Given the description of an element on the screen output the (x, y) to click on. 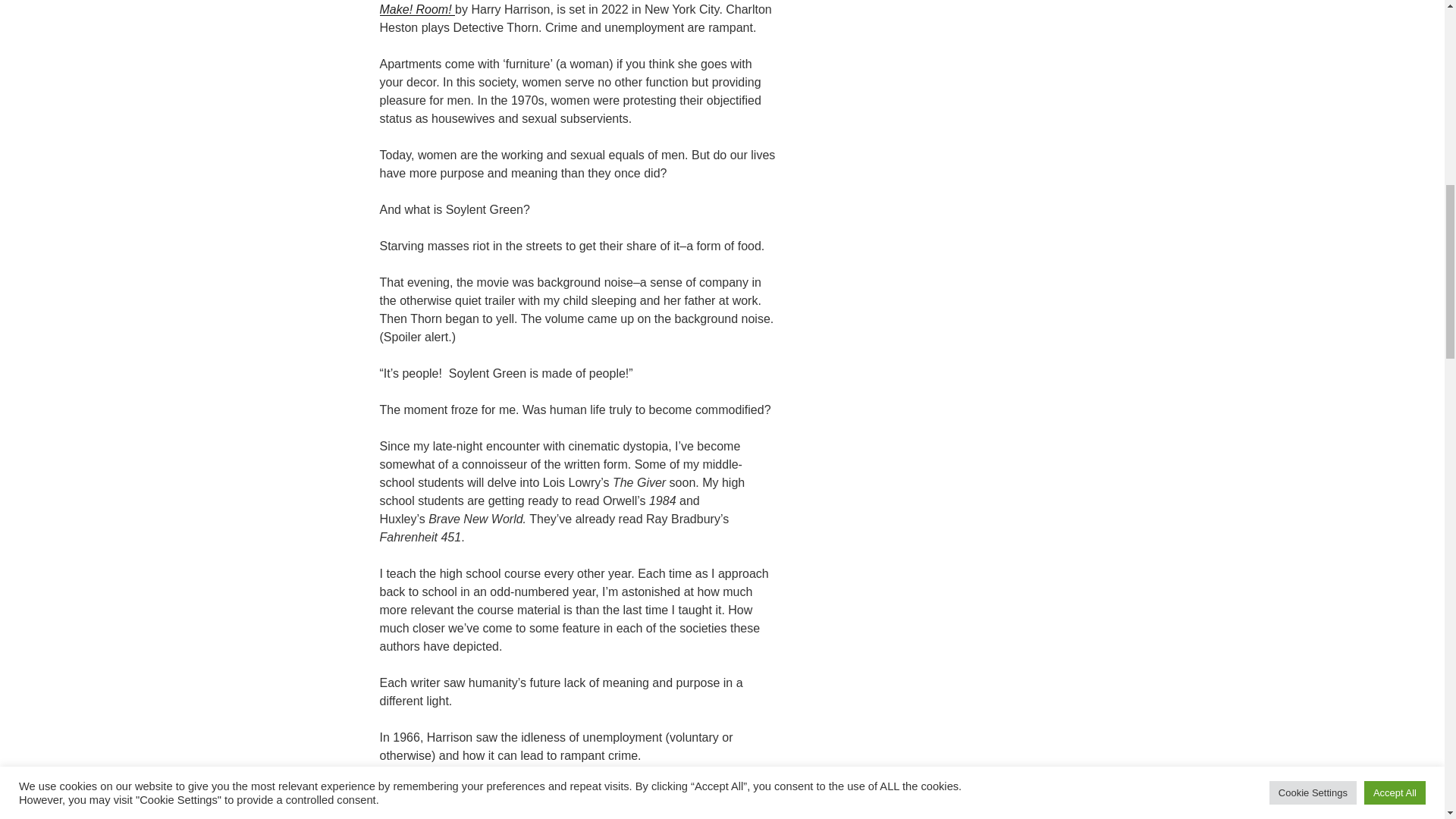
Make Room Make! Room! (572, 7)
